Given the description of an element on the screen output the (x, y) to click on. 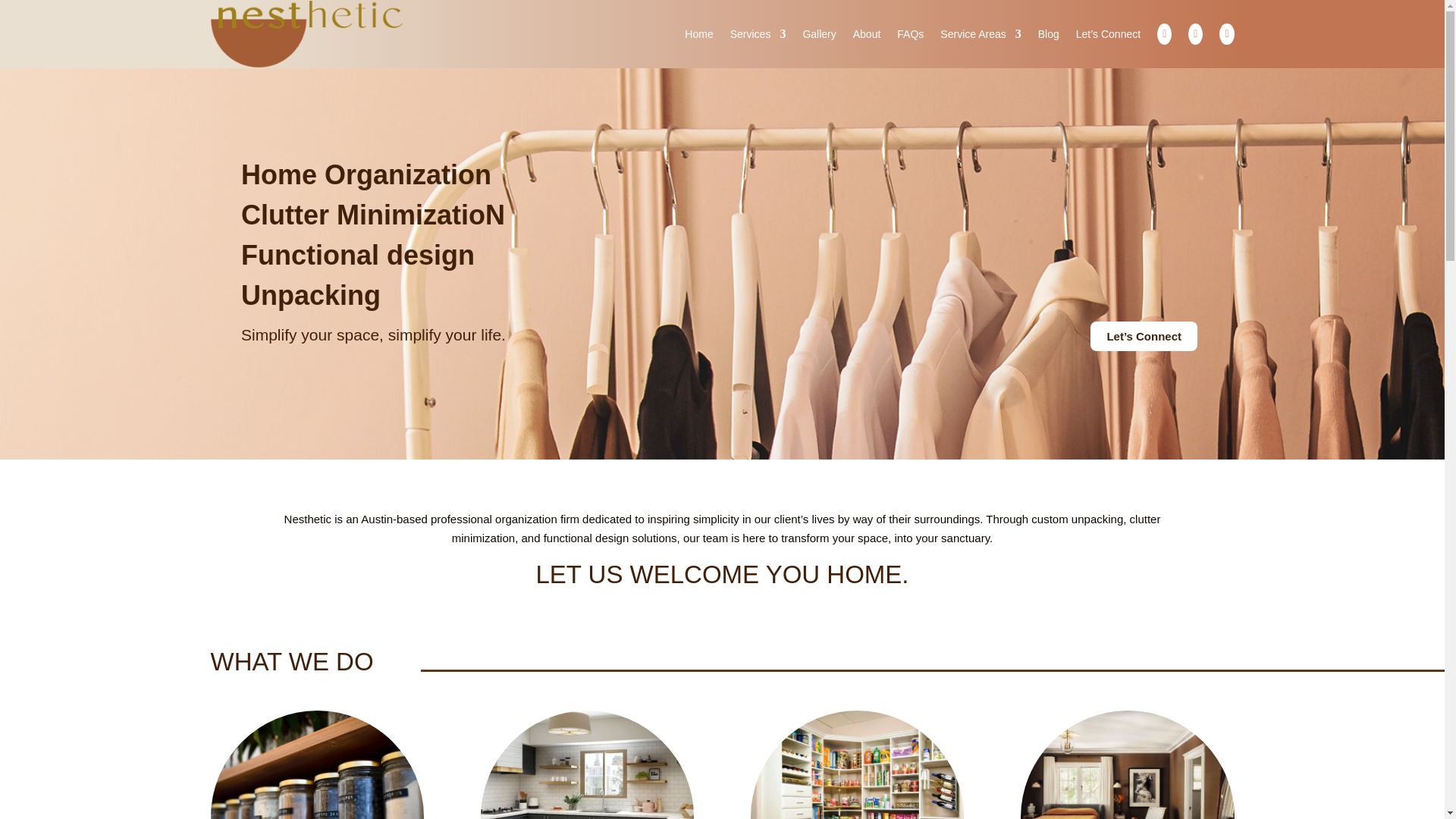
Design-Services-img (857, 764)
boxout-home (1127, 764)
paredown (587, 764)
Services (758, 33)
About (866, 33)
Home (698, 33)
nestin (318, 764)
Blog (1048, 33)
Gallery (818, 33)
FAQs (909, 33)
Service Areas (980, 33)
